Given the description of an element on the screen output the (x, y) to click on. 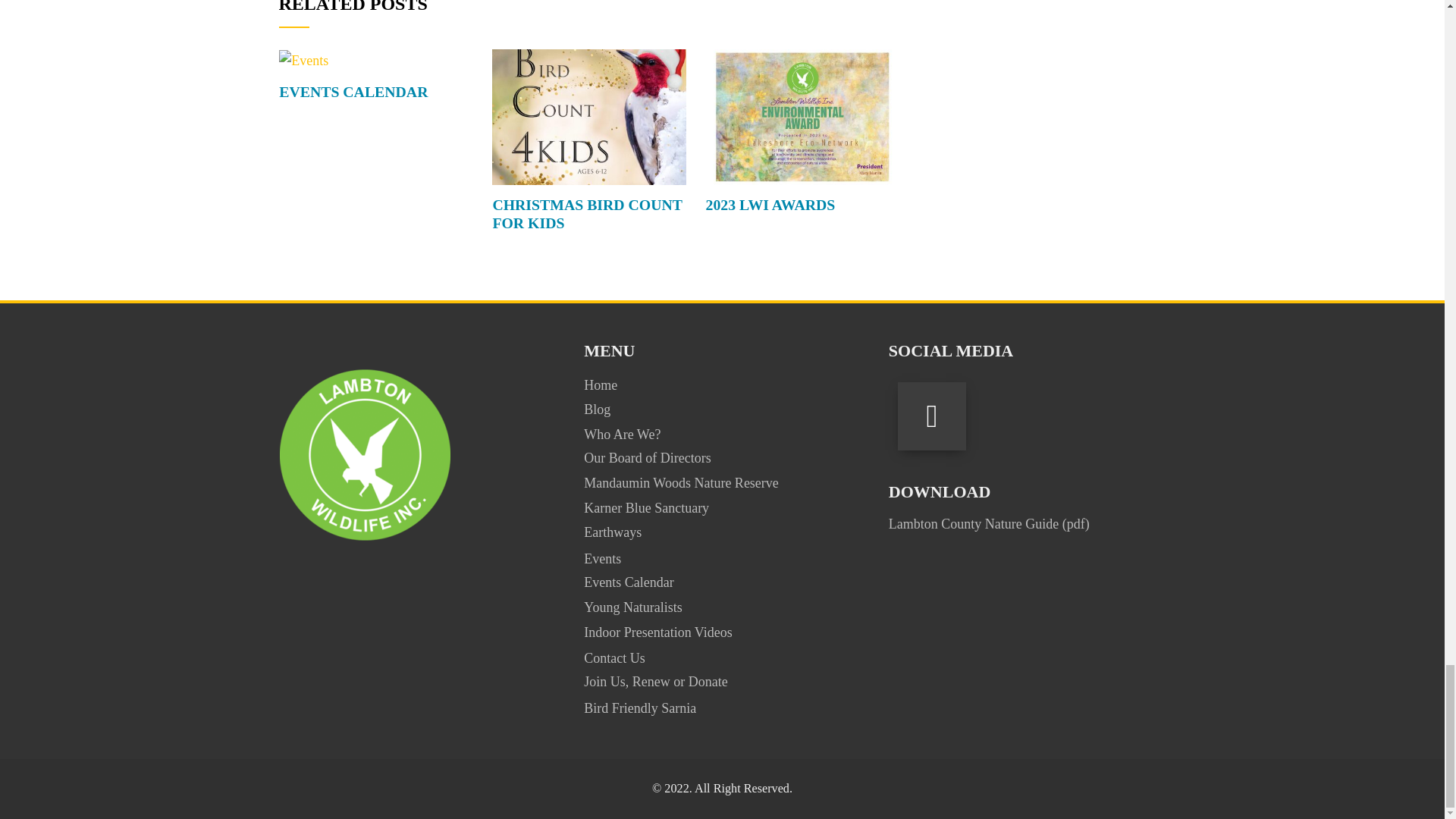
Christmas Bird Count for Kids (586, 213)
2023 LWI Awards (802, 114)
Events Calendar (353, 91)
Facebook (932, 416)
Christmas Bird Count for Kids (588, 114)
2023 LWI Awards (770, 204)
Events Calendar (304, 59)
